Given the description of an element on the screen output the (x, y) to click on. 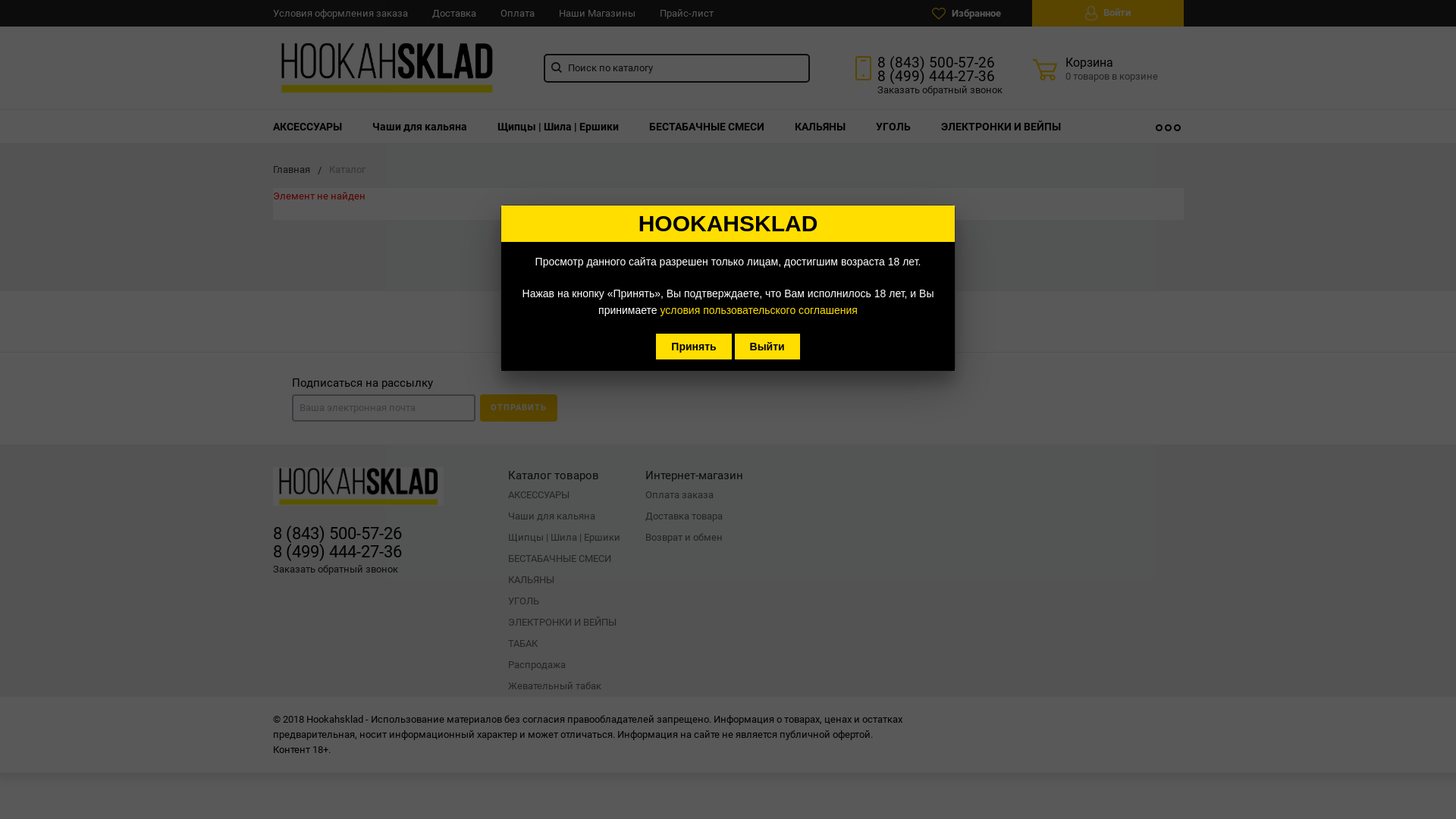
8 (499) 444-27-36 Element type: text (935, 75)
8 (843) 500-57-26 Element type: text (935, 62)
WhatsApp Image 2019-11-19 at 11.49.24.jpeg Element type: hover (386, 67)
8 (843) 500-57-26 Element type: text (337, 533)
WhatsApp Image 2019-11-19 at 11.49.24.jpeg Element type: hover (358, 486)
8 (499) 444-27-36 Element type: text (337, 551)
